Given the description of an element on the screen output the (x, y) to click on. 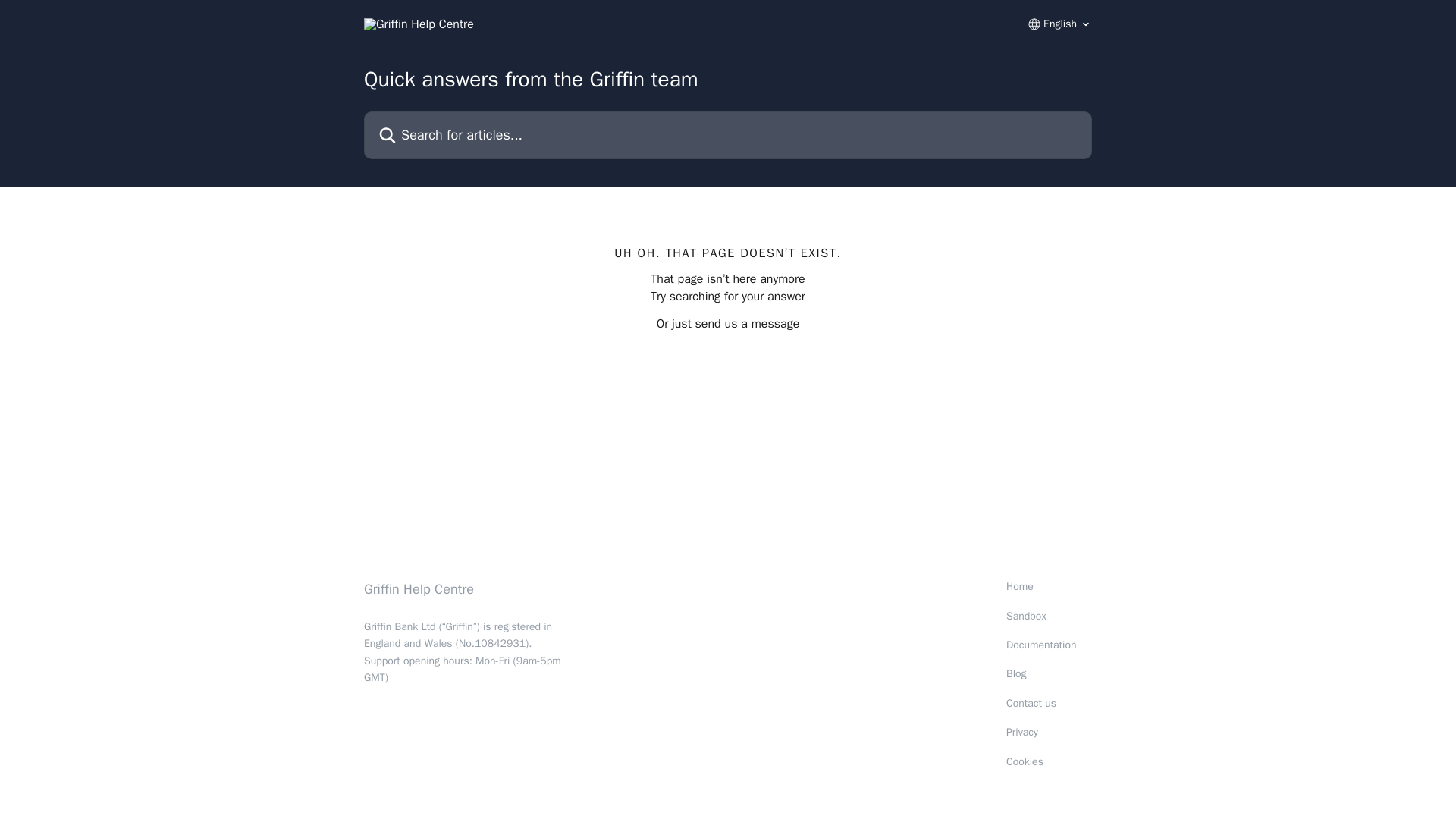
Cookies (1024, 761)
Home (1019, 585)
Griffin Help Centre (419, 588)
Privacy (1022, 731)
Blog (1016, 673)
Contact us (1031, 703)
Documentation (1041, 644)
Sandbox (1026, 615)
